Given the description of an element on the screen output the (x, y) to click on. 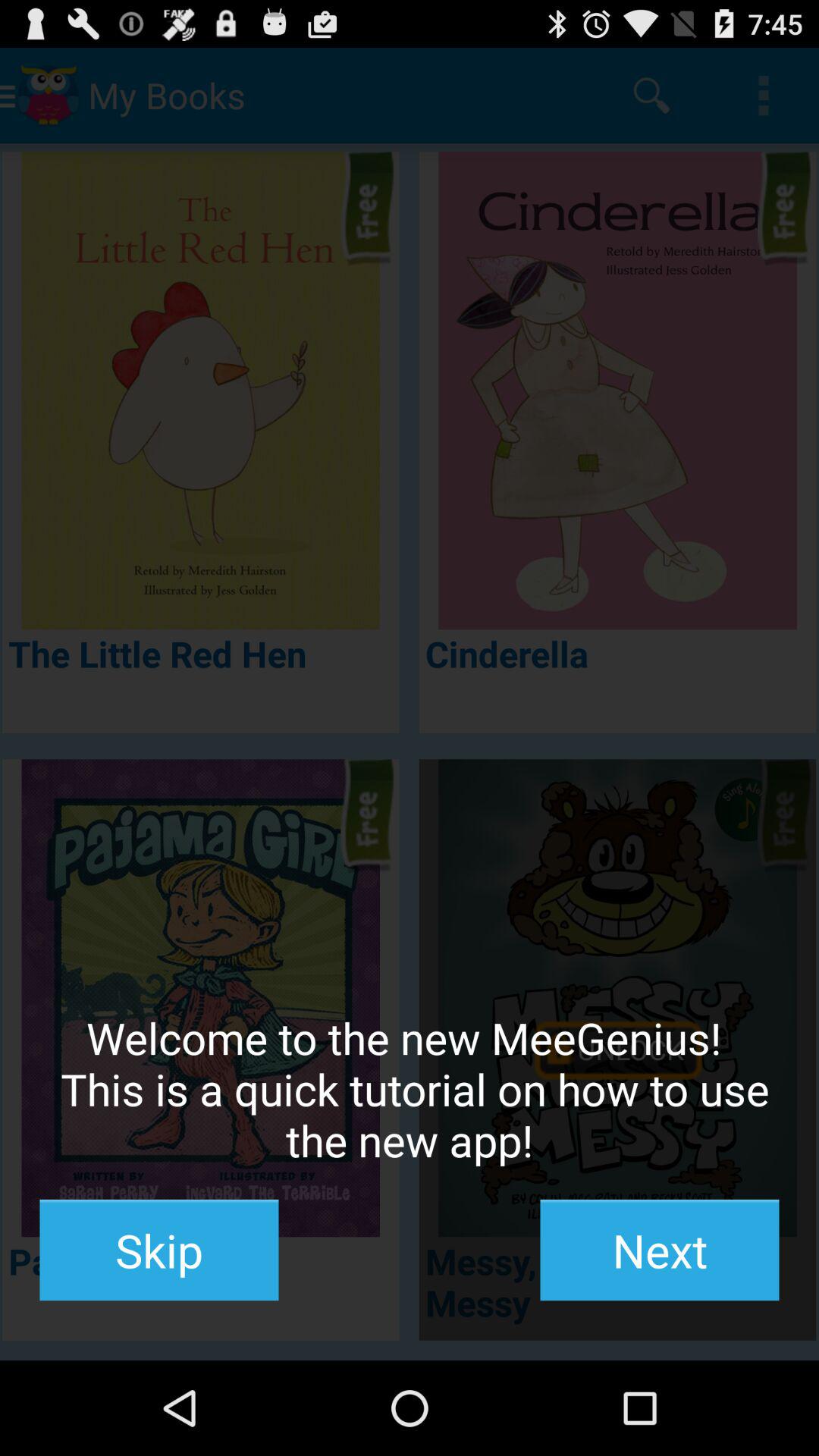
open the item next to next icon (158, 1249)
